Given the description of an element on the screen output the (x, y) to click on. 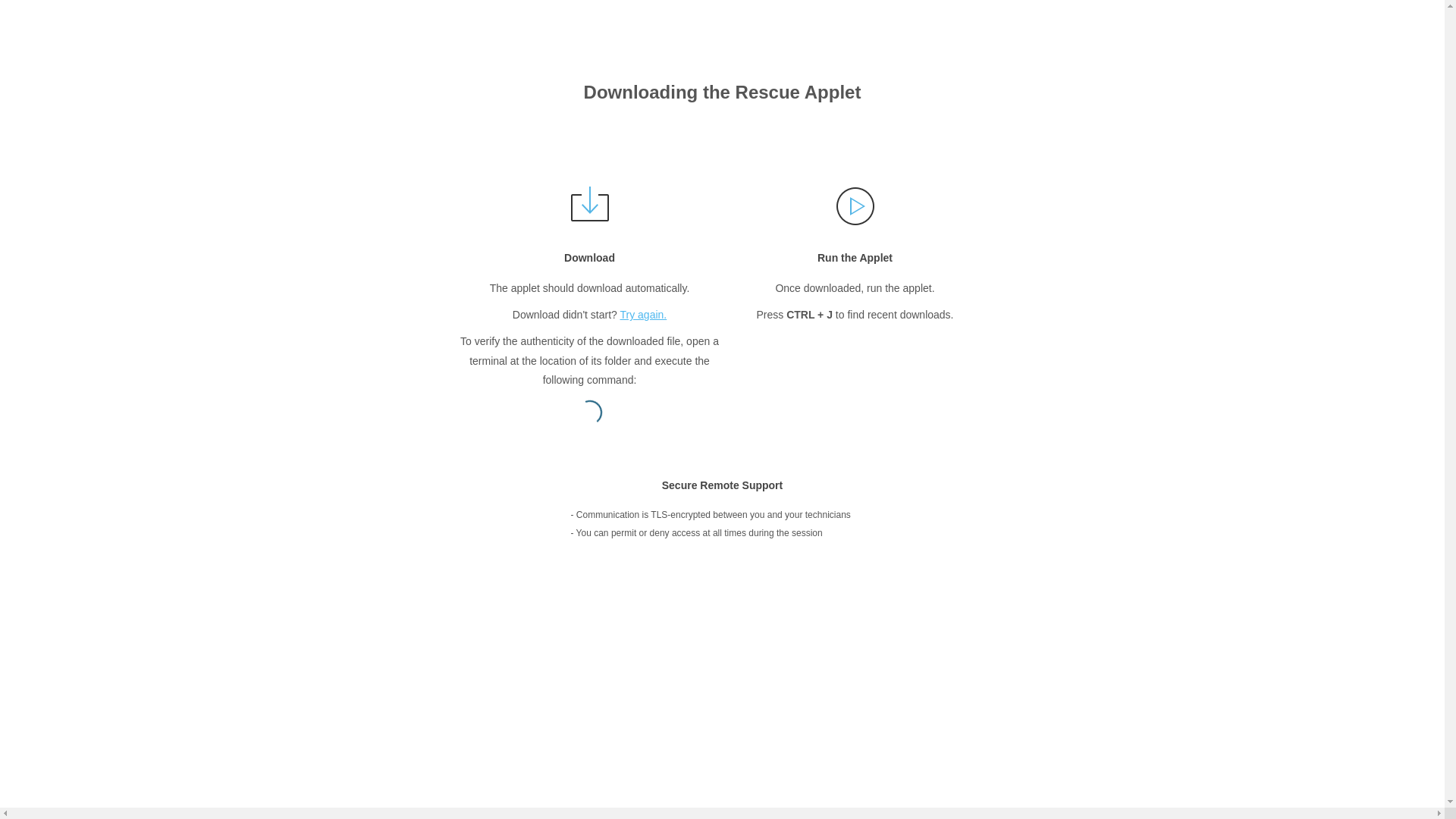
Try again. Element type: text (643, 314)
